Given the description of an element on the screen output the (x, y) to click on. 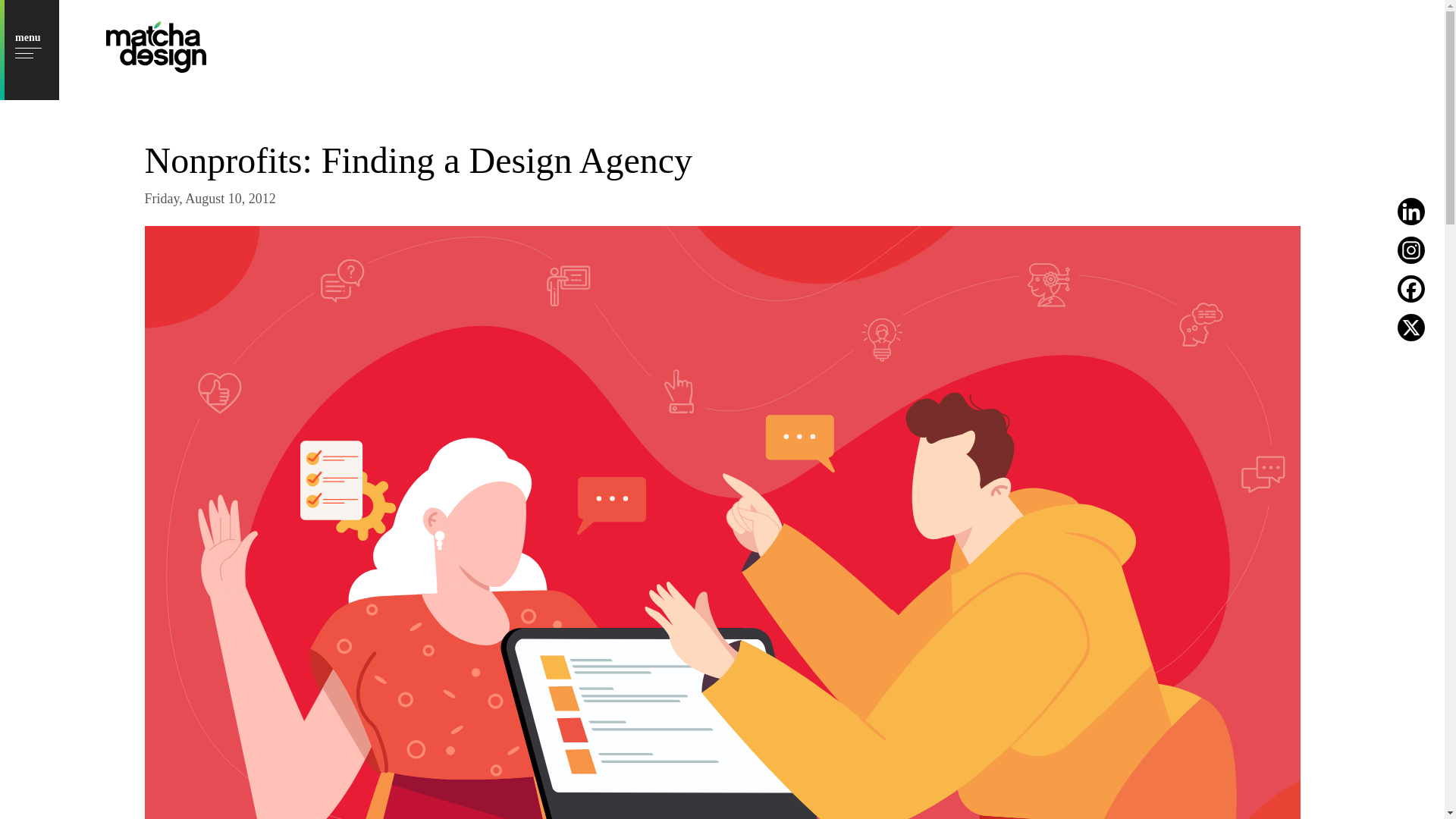
Instagram (1411, 249)
Linkedin (1411, 211)
X (1411, 327)
Facebook (1411, 288)
